Given the description of an element on the screen output the (x, y) to click on. 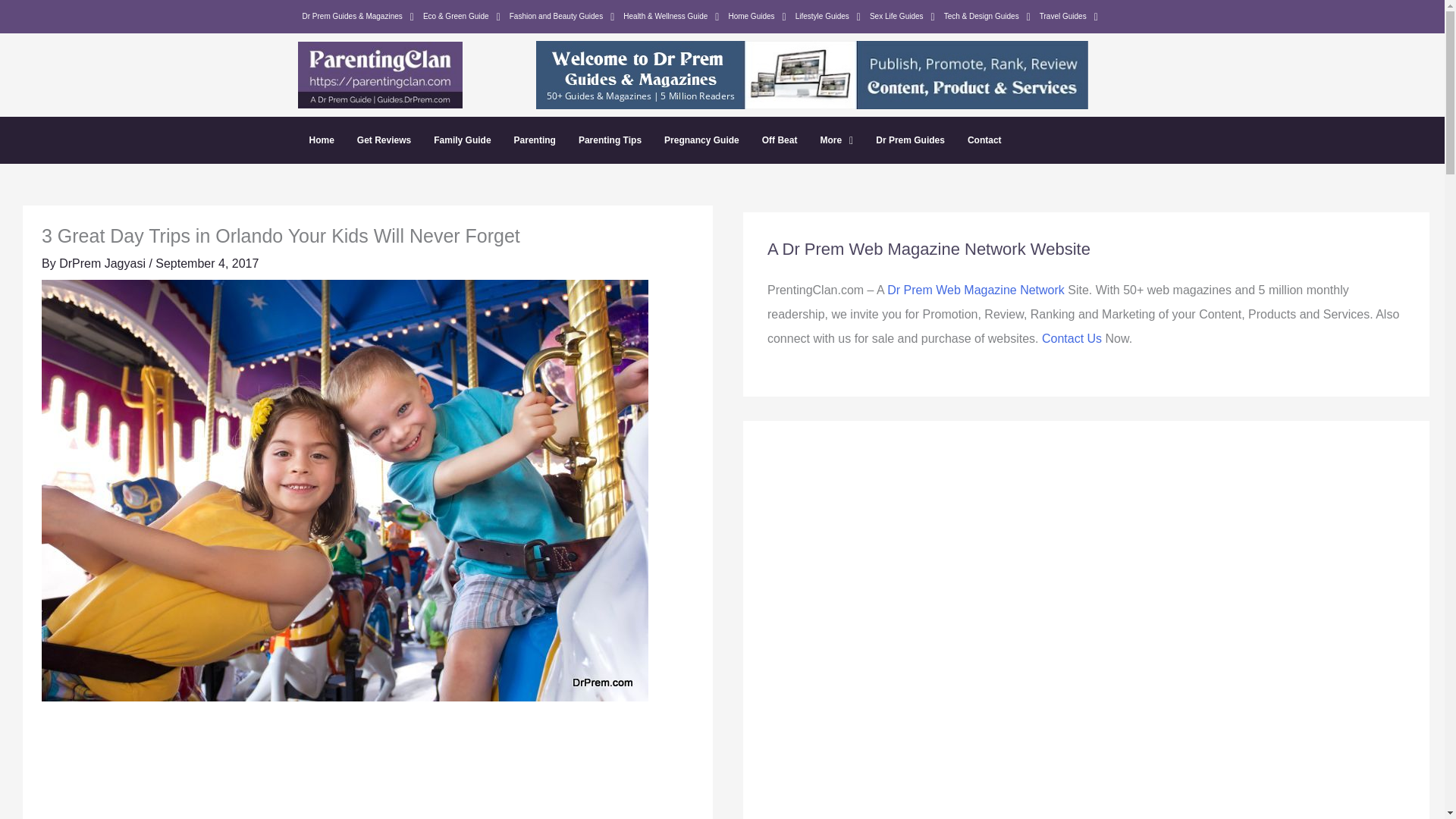
Lifestyle Guides (827, 16)
View all posts by DrPrem Jagyasi (103, 263)
Fashion and Beauty Guides (562, 16)
Home Guides (756, 16)
